Given the description of an element on the screen output the (x, y) to click on. 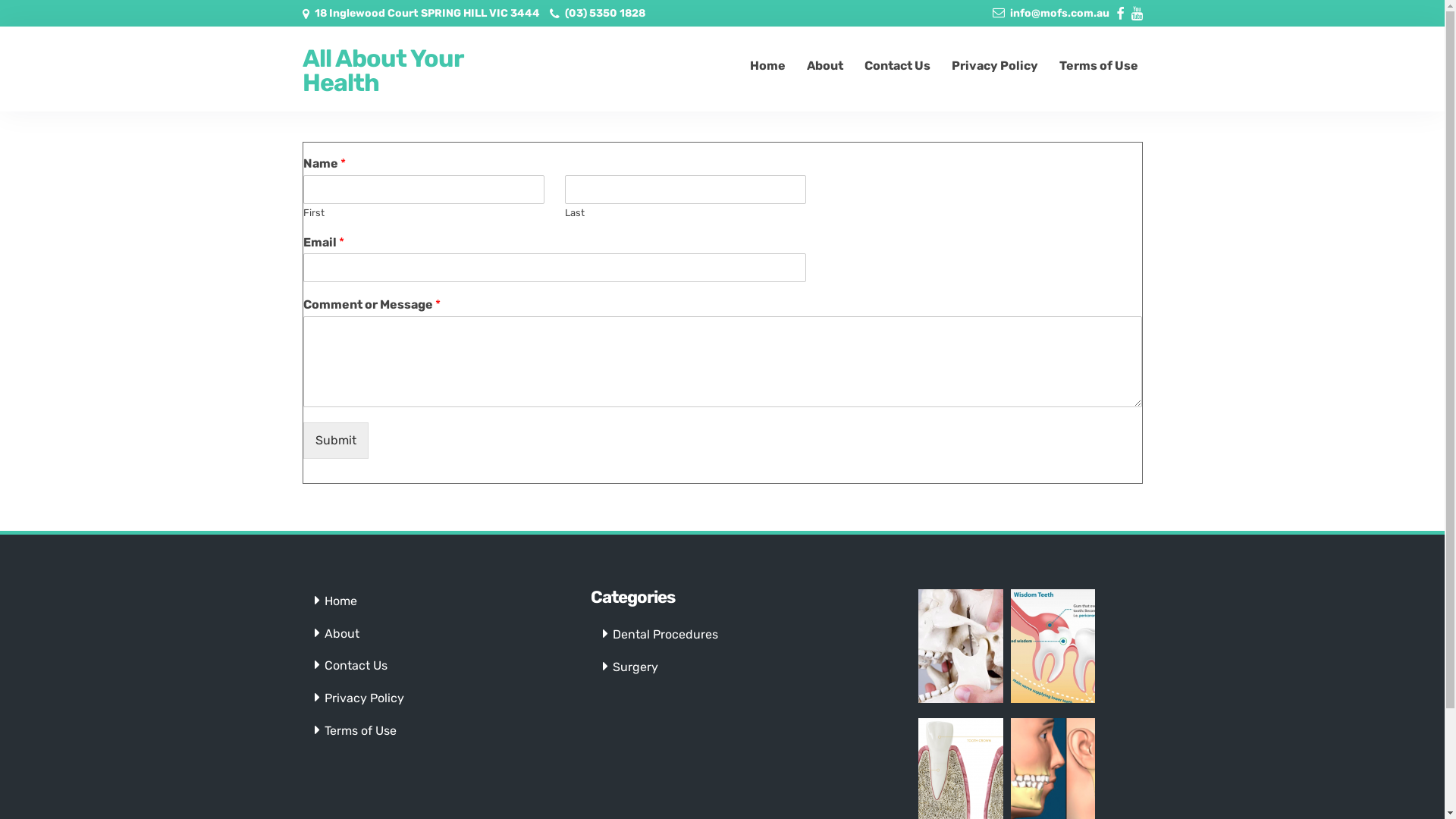
About Element type: text (341, 633)
Contact Us Element type: text (897, 65)
facebook Element type: text (1119, 9)
Privacy Policy Element type: text (993, 65)
About Element type: text (824, 65)
Dental Procedures Element type: text (665, 634)
info@mofs.com.au Element type: text (1059, 12)
Home Element type: text (766, 65)
youtube Element type: text (1136, 9)
Terms of Use Element type: text (1097, 65)
Terms of Use Element type: text (360, 730)
Surgery Element type: text (635, 666)
Privacy Policy Element type: text (364, 697)
Submit Element type: text (335, 440)
Contact Us Element type: text (355, 665)
All About Your Health Element type: text (397, 70)
Home Element type: text (340, 600)
